Given the description of an element on the screen output the (x, y) to click on. 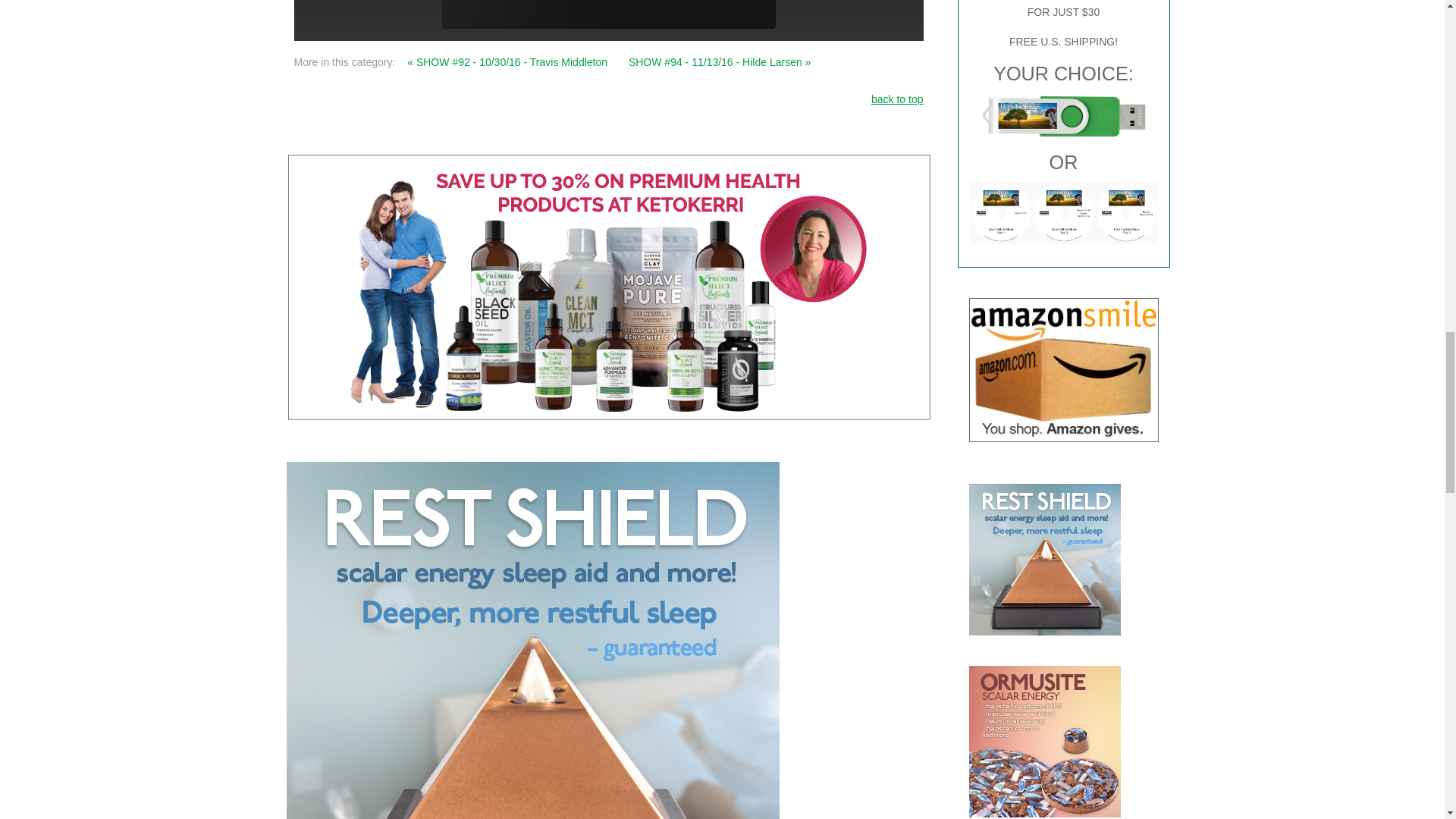
JoomlaWorks AllVideos Player (608, 7)
Lost Arts Radio USB Flash Drive (1063, 116)
lostartsradio dvd set (1063, 212)
Amazon Smile (1063, 370)
